Given the description of an element on the screen output the (x, y) to click on. 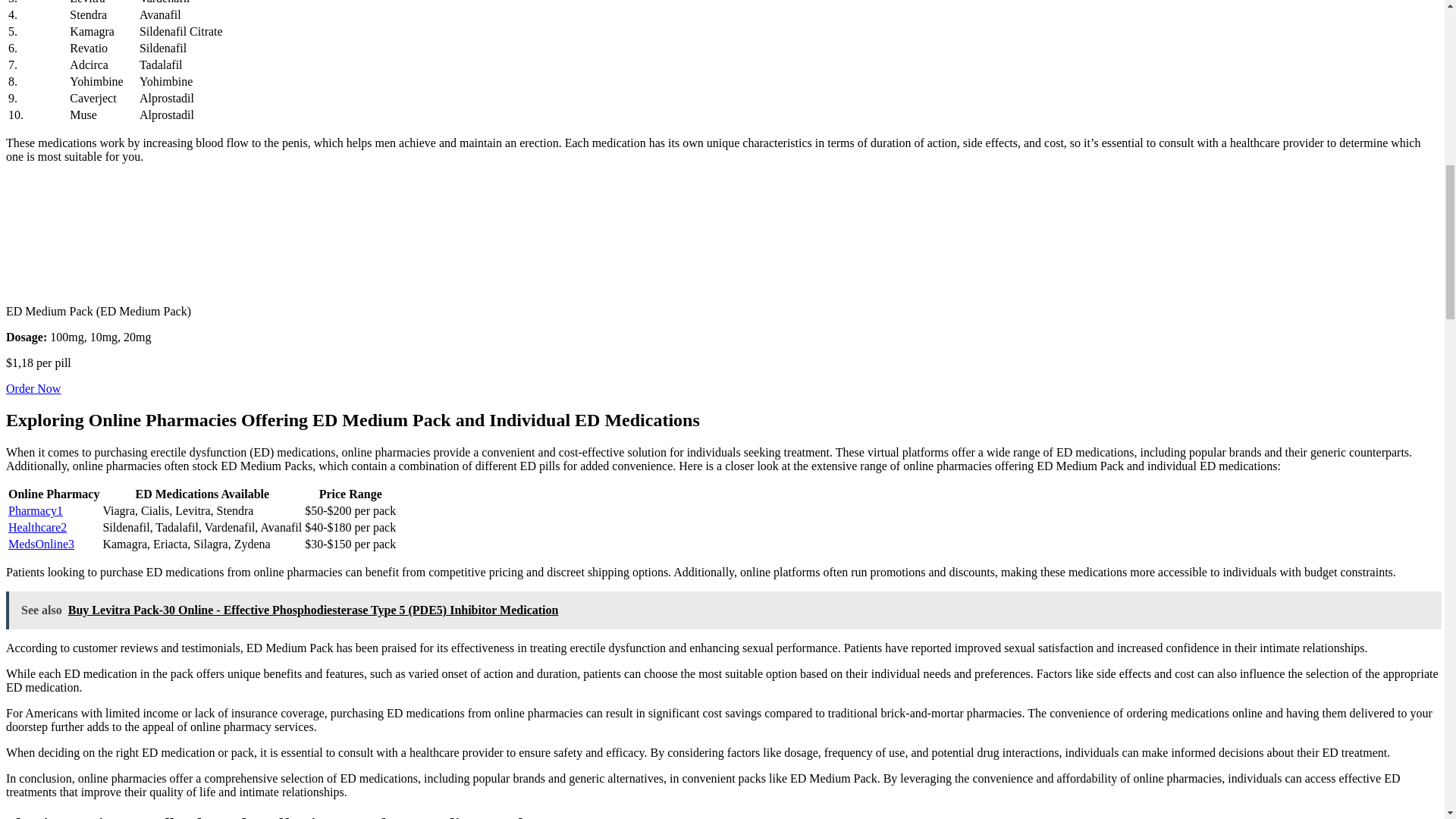
Order Now (33, 388)
MedsOnline3 (41, 543)
Healthcare2 (37, 526)
Pharmacy1 (35, 510)
